Given the description of an element on the screen output the (x, y) to click on. 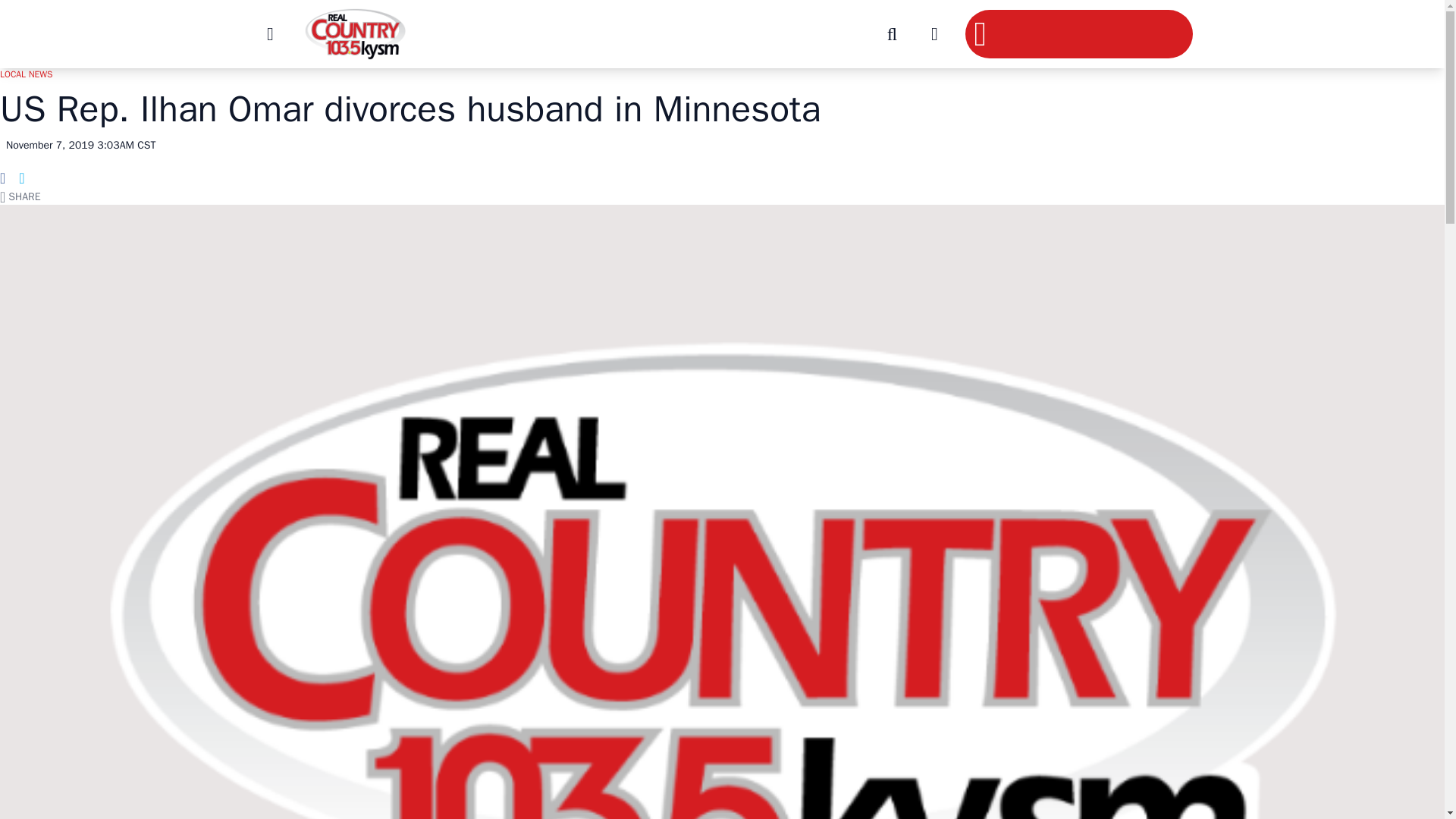
103.5 KYSM (354, 33)
